Given the description of an element on the screen output the (x, y) to click on. 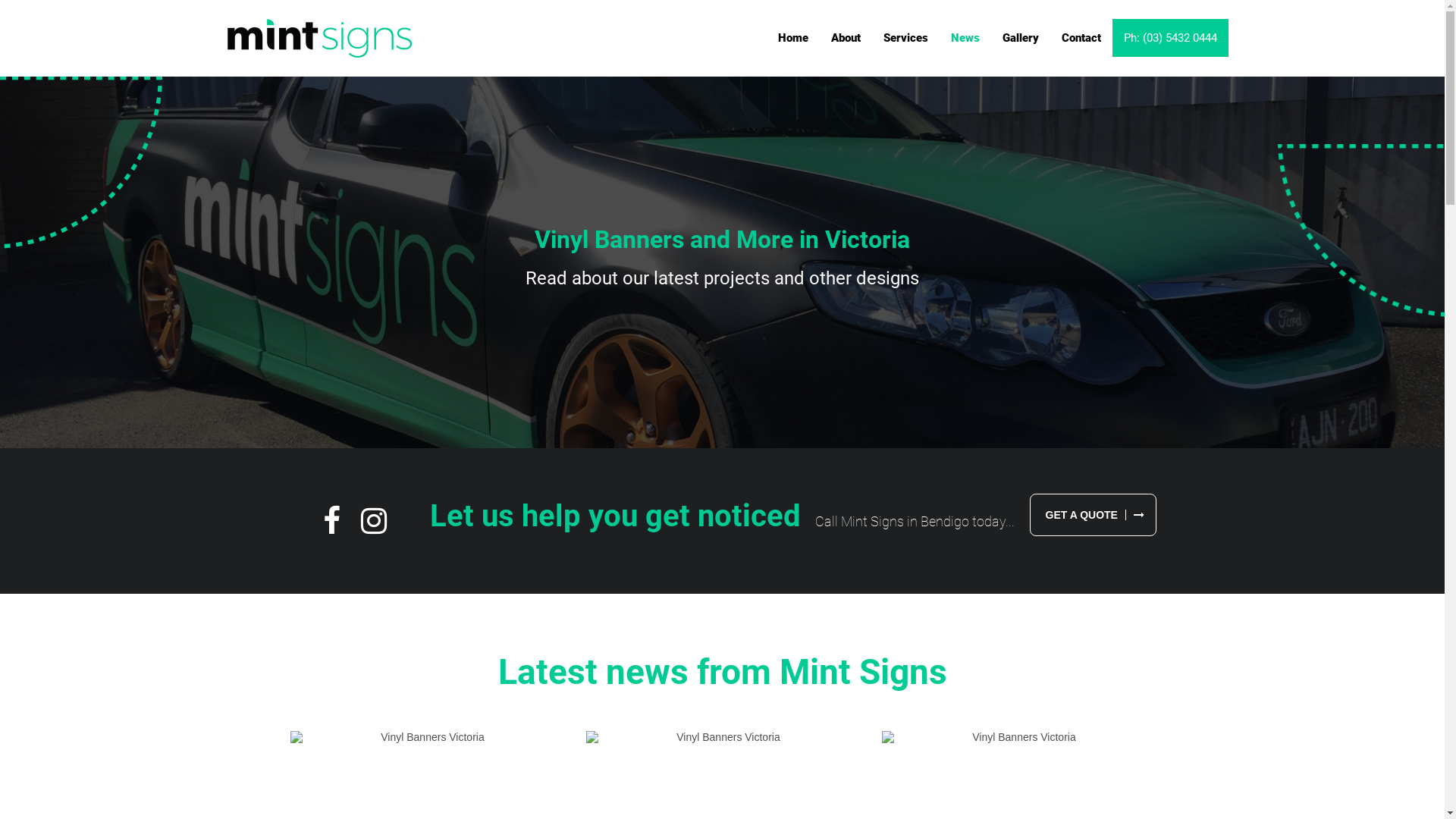
News Element type: text (965, 37)
GET A QUOTE Element type: text (1092, 514)
About Element type: text (845, 37)
Gallery Element type: text (1020, 37)
Services Element type: text (905, 37)
Ph: (03) 5432 0444 Element type: text (1170, 37)
Home Element type: text (792, 37)
Contact Element type: text (1081, 37)
